Given the description of an element on the screen output the (x, y) to click on. 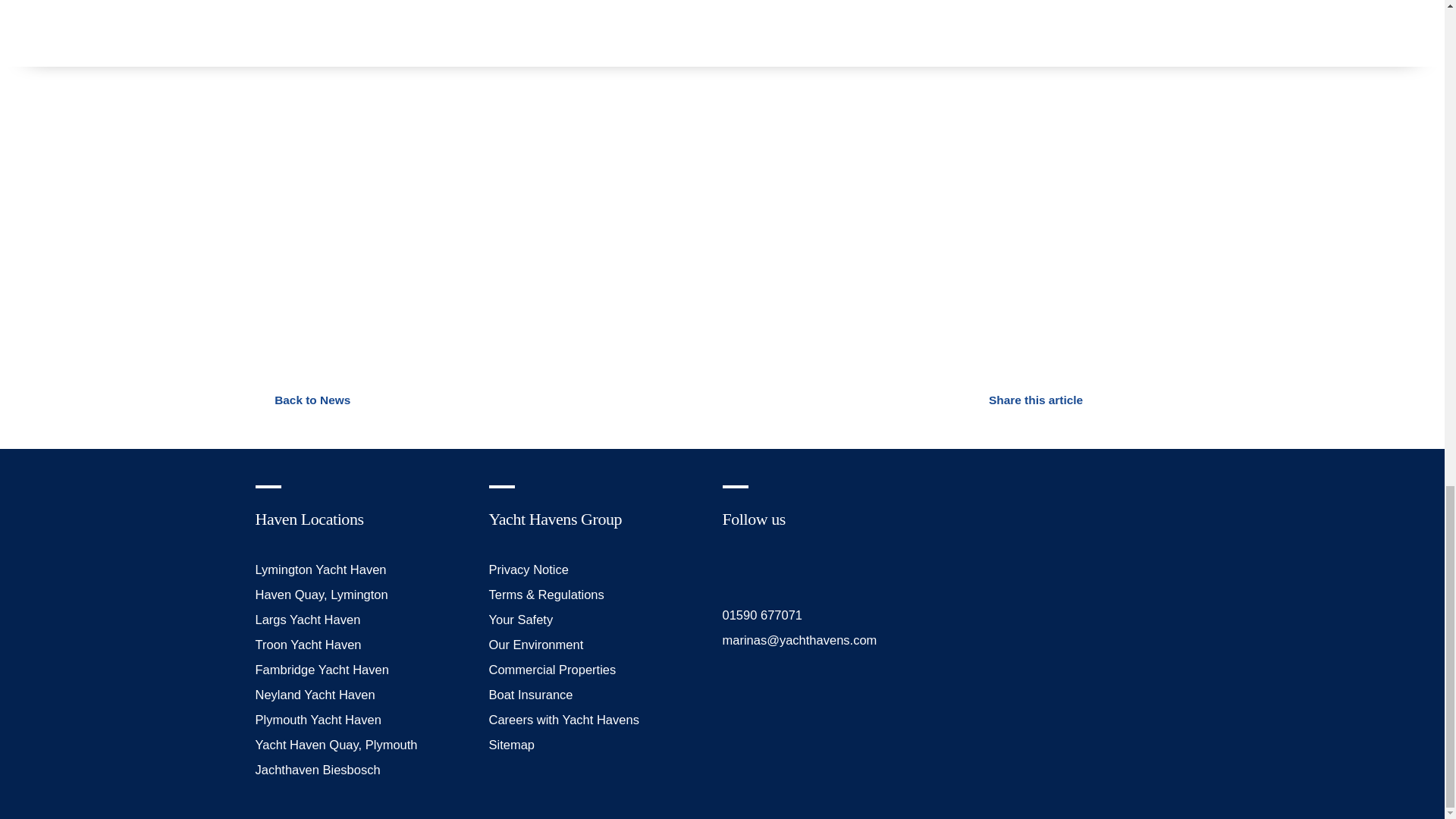
Instagram (766, 567)
Linkedin (800, 567)
